Given the description of an element on the screen output the (x, y) to click on. 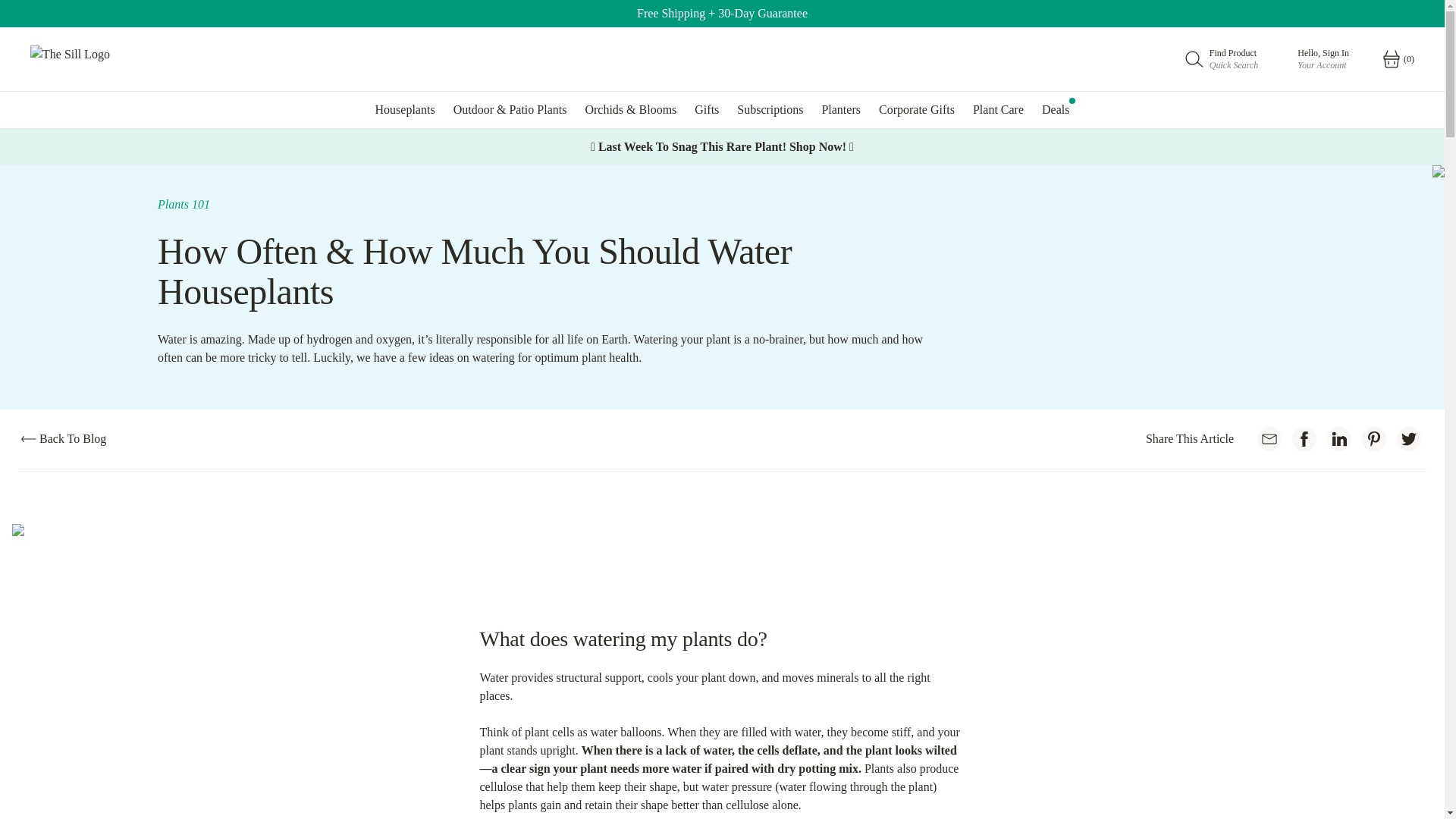
Gifts (1222, 58)
Subscriptions (706, 109)
Corporate Gifts (770, 109)
Houseplants (916, 109)
Deals (405, 109)
Planters (1055, 109)
Plant Care (840, 109)
